Given the description of an element on the screen output the (x, y) to click on. 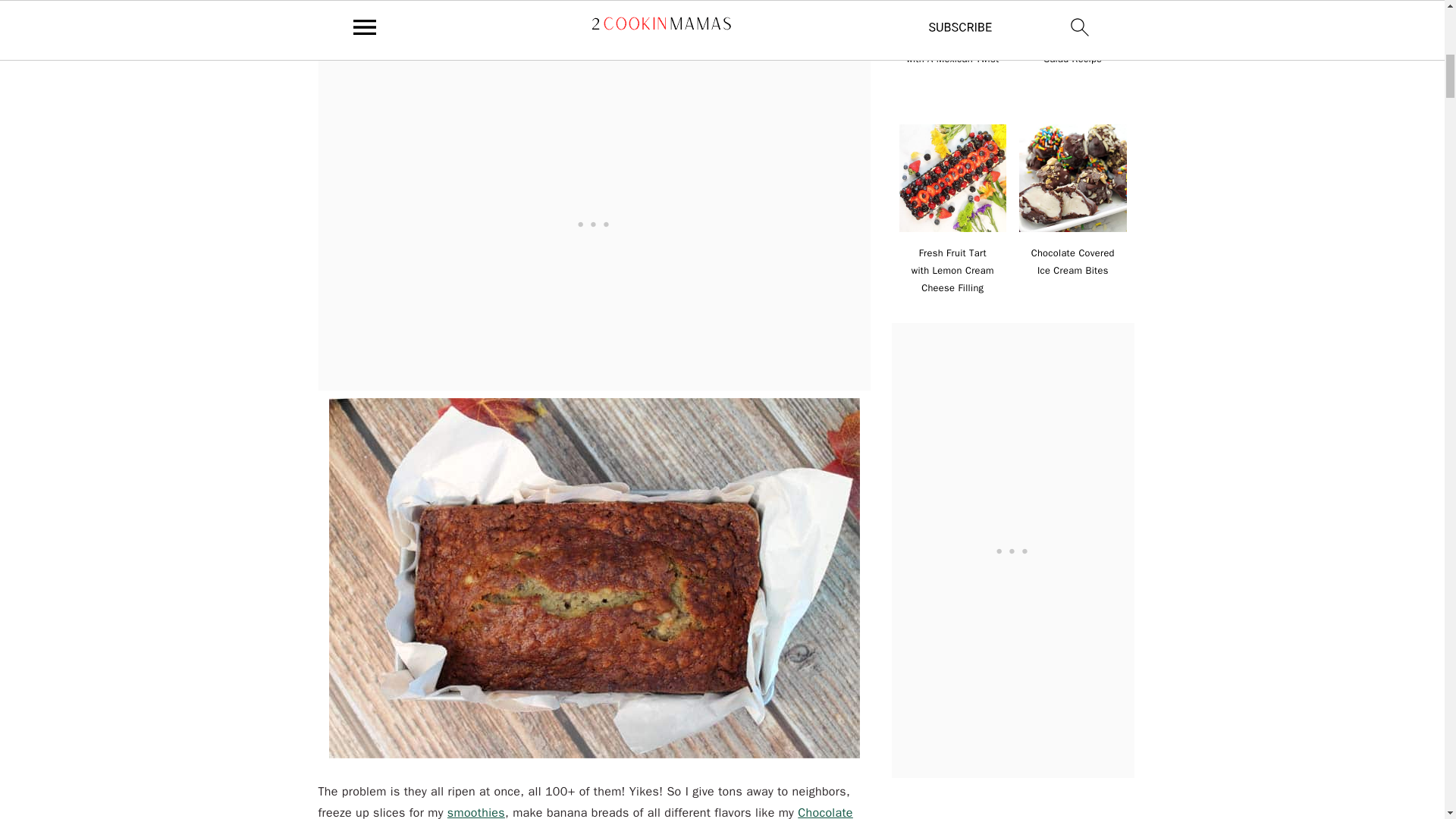
Chocolate Swirl Banana Bread (585, 812)
smoothies (475, 812)
